Given the description of an element on the screen output the (x, y) to click on. 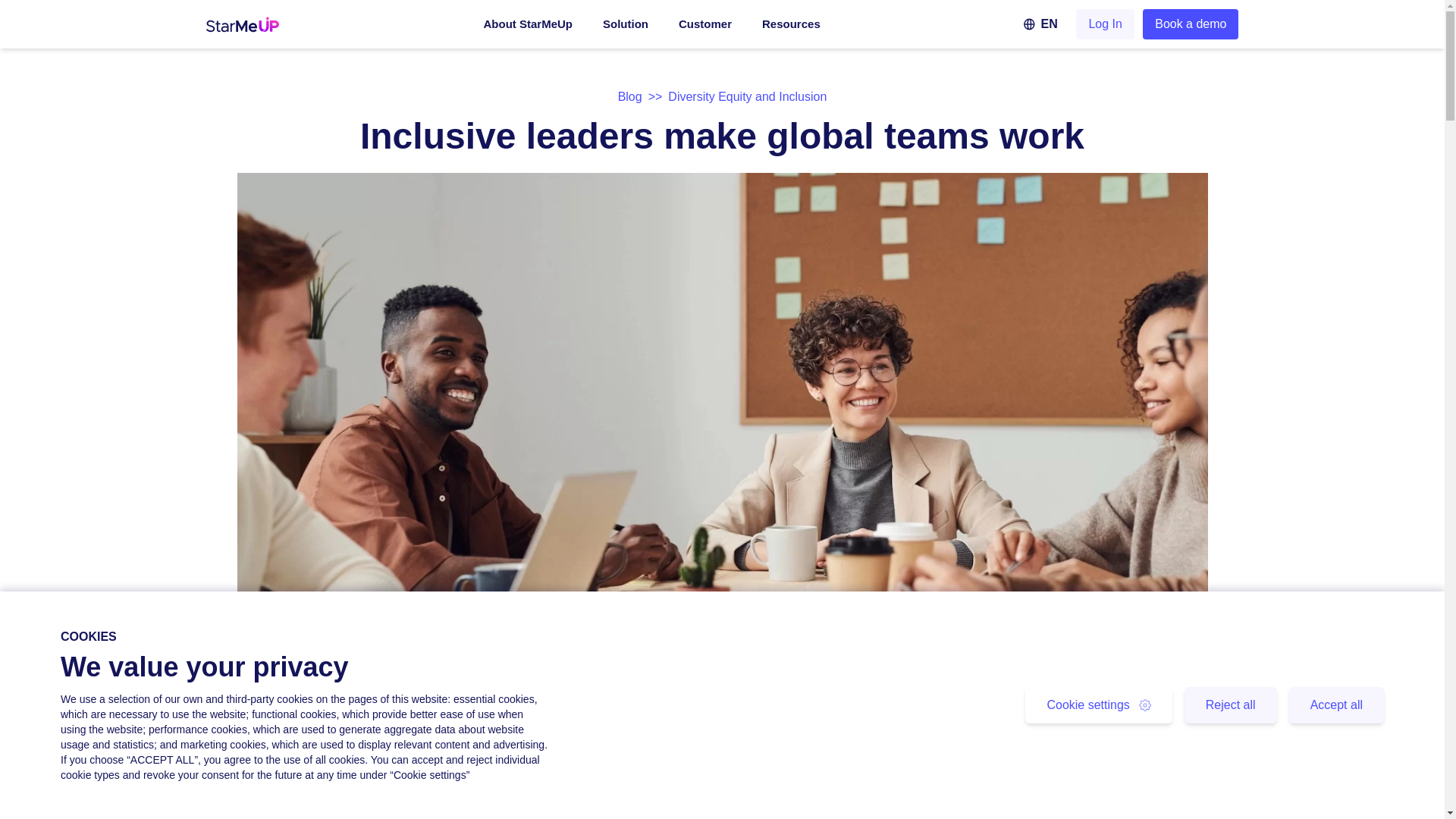
Diversity Equity and Inclusion (499, 815)
Log In (1104, 24)
Solution (624, 32)
Blog (629, 96)
Book a demo (1190, 24)
Diversity Equity and Inclusion (747, 96)
EN (1035, 24)
Resources (791, 32)
Customer (705, 32)
About StarMeUp (528, 32)
